Given the description of an element on the screen output the (x, y) to click on. 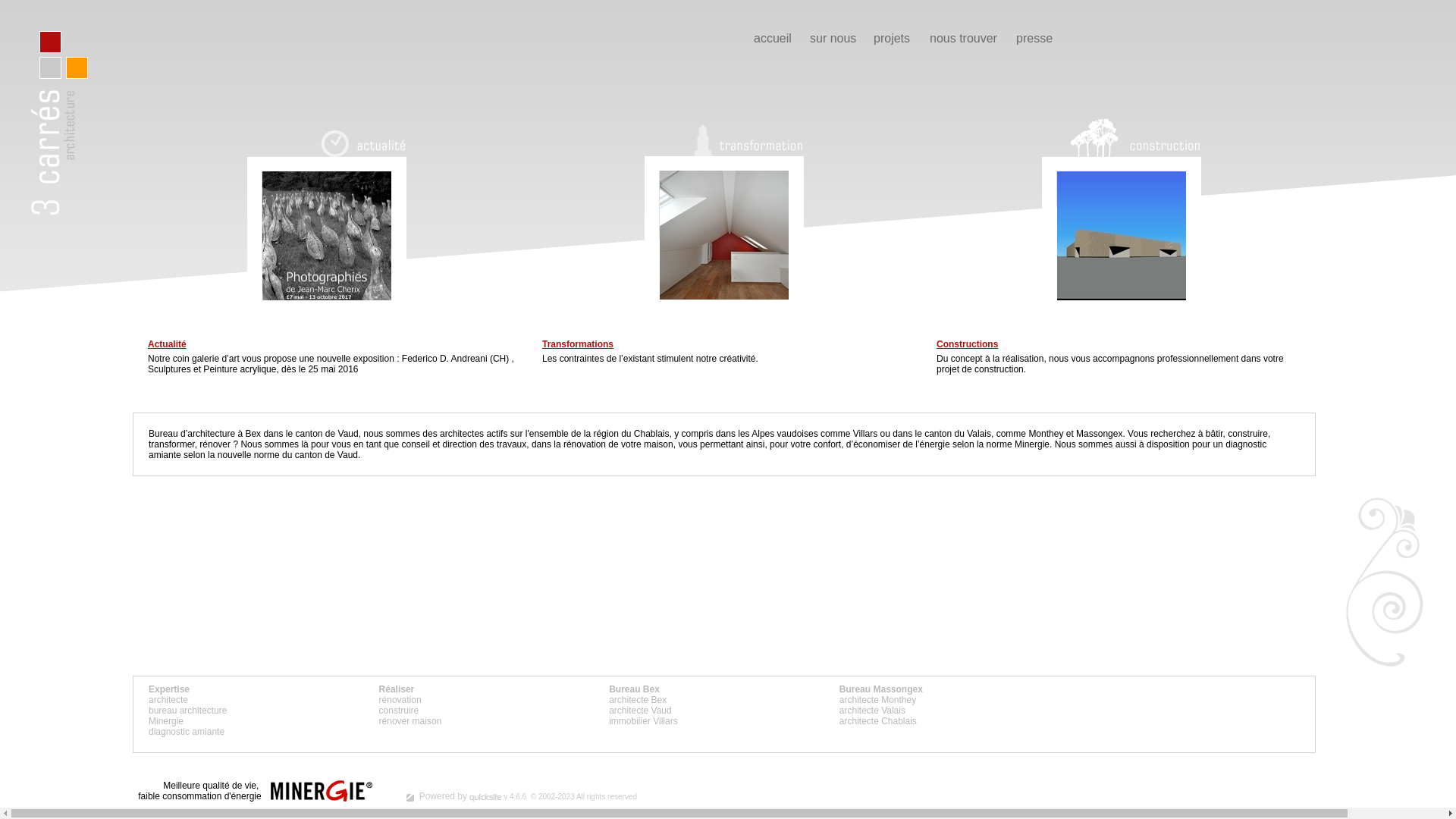
diagnostic Element type: text (1245, 444)
Monthey Element type: text (1045, 433)
Chablais Element type: text (651, 433)
Minergie Element type: text (165, 720)
bureau architecture Element type: text (187, 710)
architectes Element type: text (461, 433)
Bex Element type: text (252, 433)
Villars Element type: text (865, 433)
construire Element type: text (1247, 433)
Vaud Element type: text (348, 433)
immobilier Villars Element type: text (642, 720)
architecte Element type: text (168, 699)
architecte Bex Element type: text (637, 699)
Alpes Element type: text (762, 433)
construire Element type: text (399, 710)
architecte Vaud Element type: text (639, 710)
architecte Chablais Element type: text (877, 720)
Valais Element type: text (978, 433)
quicksite Element type: hover (485, 797)
maison Element type: text (658, 444)
Constructions Element type: text (966, 343)
Transformations Element type: text (577, 343)
diagnostic amiante Element type: text (186, 731)
architecte Monthey Element type: text (877, 699)
quicksite Element type: hover (410, 797)
Minergie Element type: text (1031, 444)
architecte Valais Element type: text (872, 710)
Vaud Element type: text (347, 454)
amiante Element type: text (164, 454)
